Given the description of an element on the screen output the (x, y) to click on. 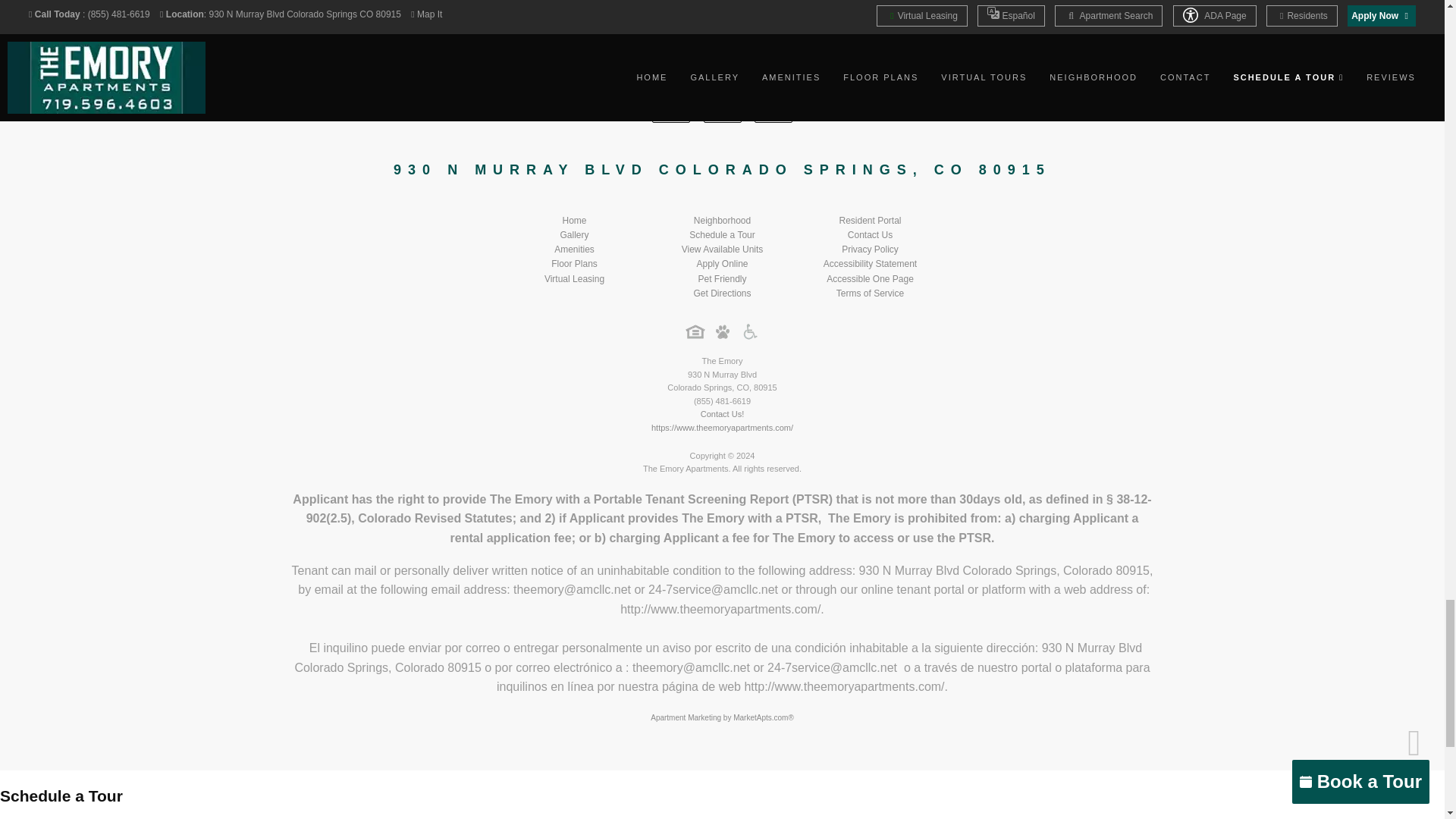
The Emory Apartments' yelp link (773, 103)
Disability Access for The Emory Apartments (749, 331)
Pet Friendly for The Emory Apartments (722, 331)
Equal Housing for The Emory Apartments (695, 331)
The Emory Apartments' google link (722, 103)
The Emory Apartments' facebook link (671, 103)
